Given the description of an element on the screen output the (x, y) to click on. 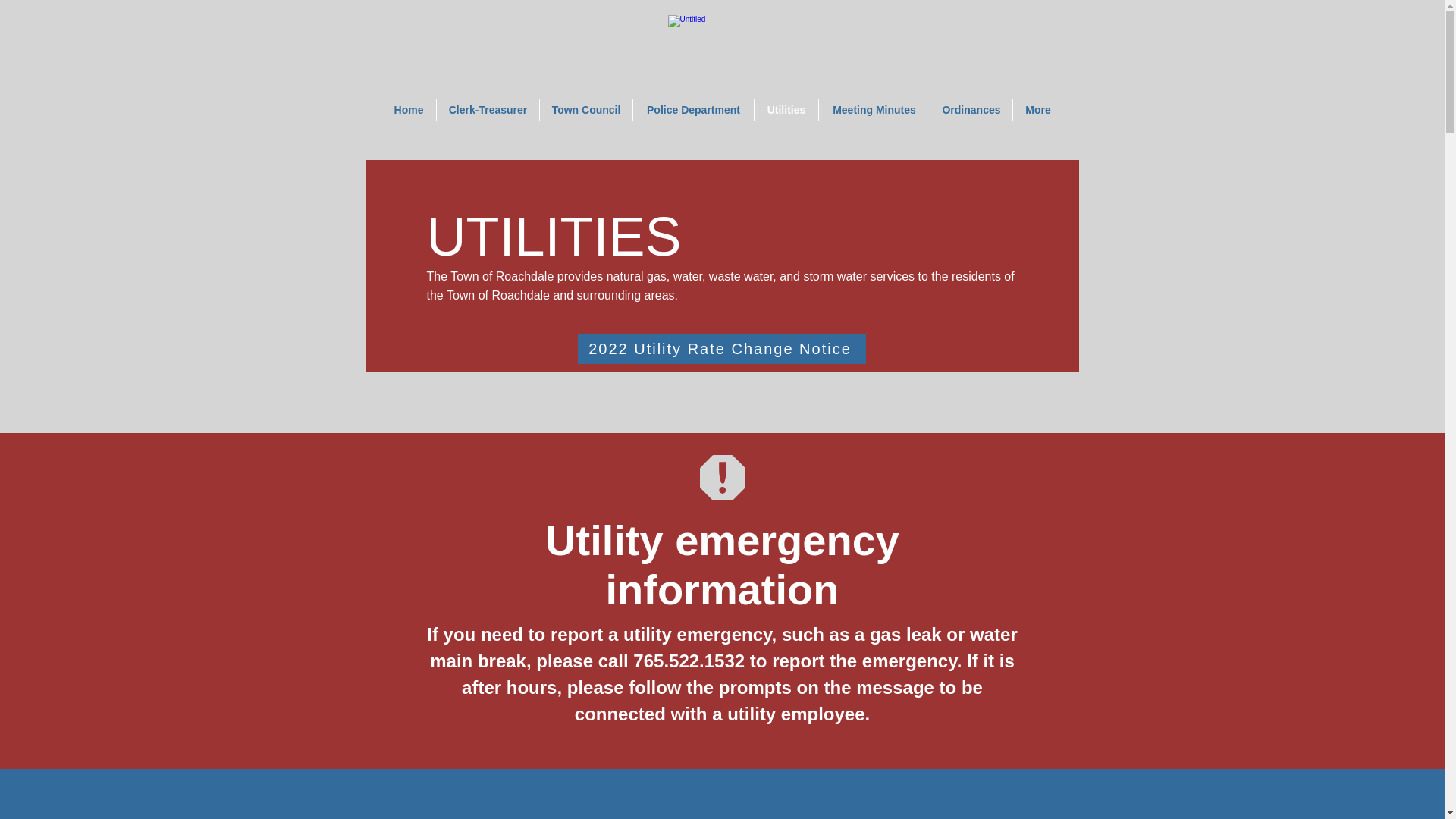
Meeting Minutes (874, 109)
2022 Utility Rate Change Notice (722, 348)
Police Department (693, 109)
Town Council (585, 109)
Home (408, 109)
Utilities (786, 109)
Clerk-Treasurer (487, 109)
Ordinances (970, 109)
